Given the description of an element on the screen output the (x, y) to click on. 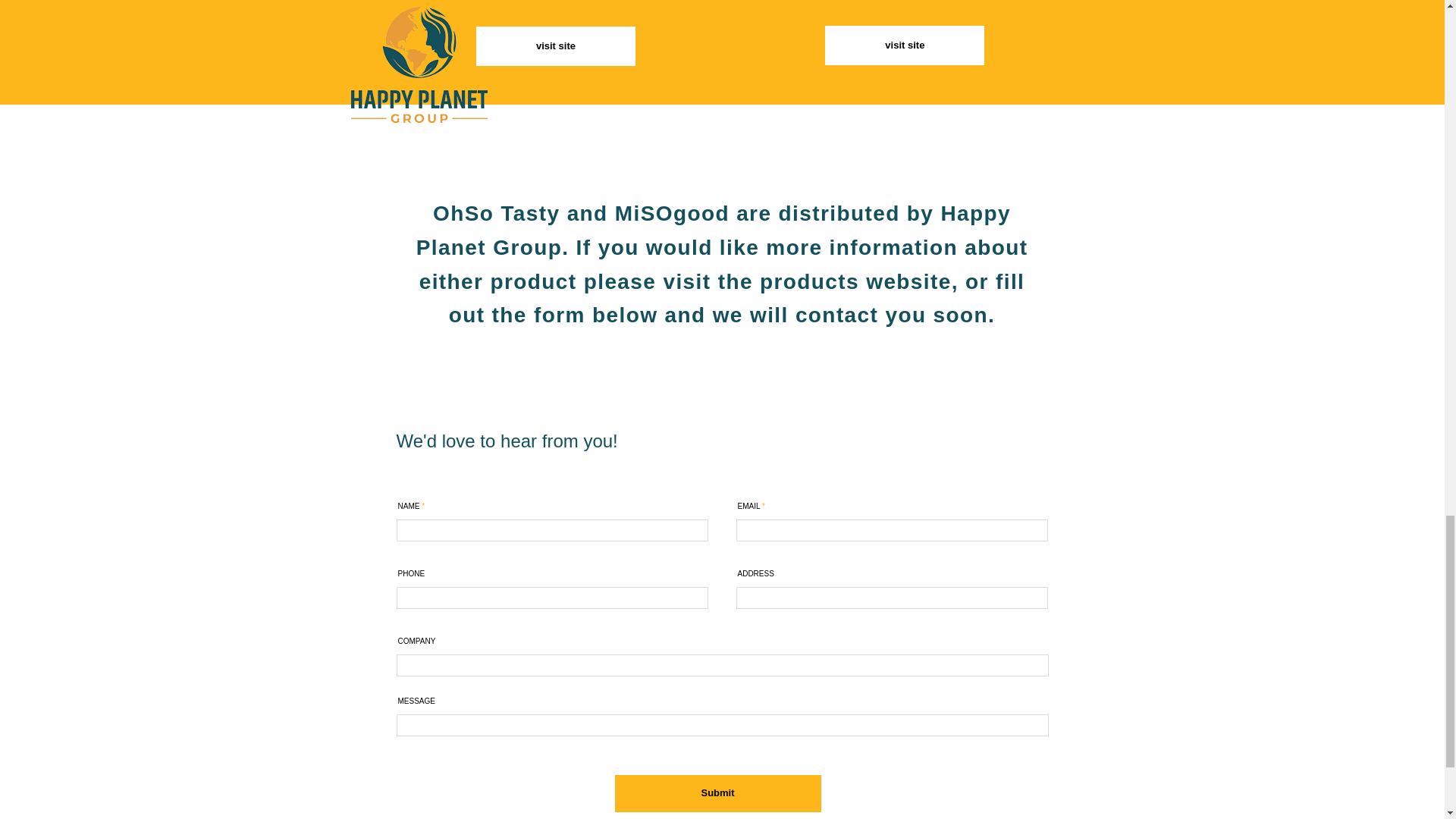
Submit (717, 793)
visit site (555, 46)
visit site (904, 45)
